Given the description of an element on the screen output the (x, y) to click on. 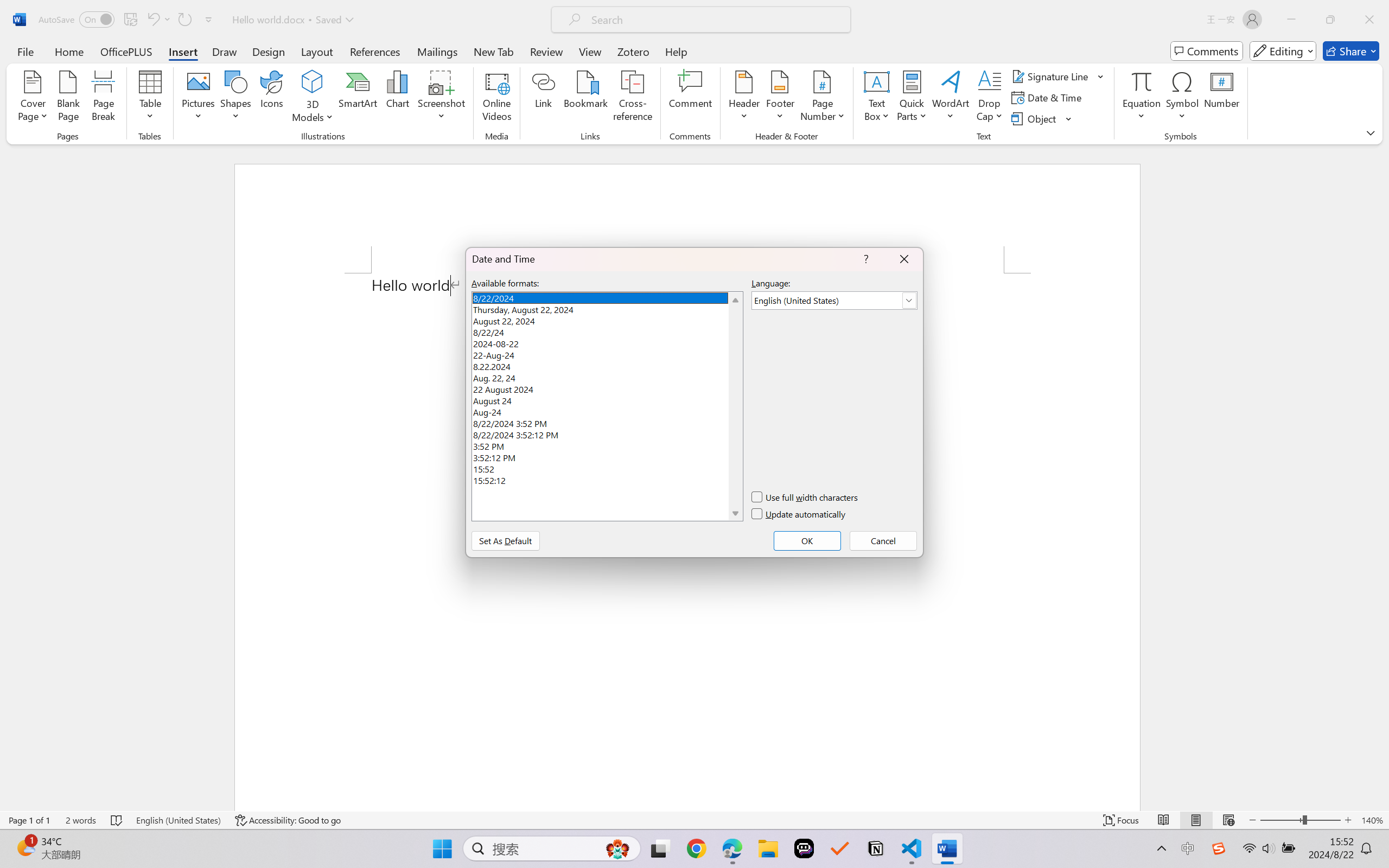
Pictures (198, 97)
WordArt (950, 97)
Header (743, 97)
Page Break (103, 97)
Comment (689, 97)
Design (268, 51)
Language: (834, 300)
3D Models (312, 81)
OK (807, 540)
References (375, 51)
Cover Page (33, 97)
SmartArt... (358, 97)
15:52:12 (606, 479)
